Given the description of an element on the screen output the (x, y) to click on. 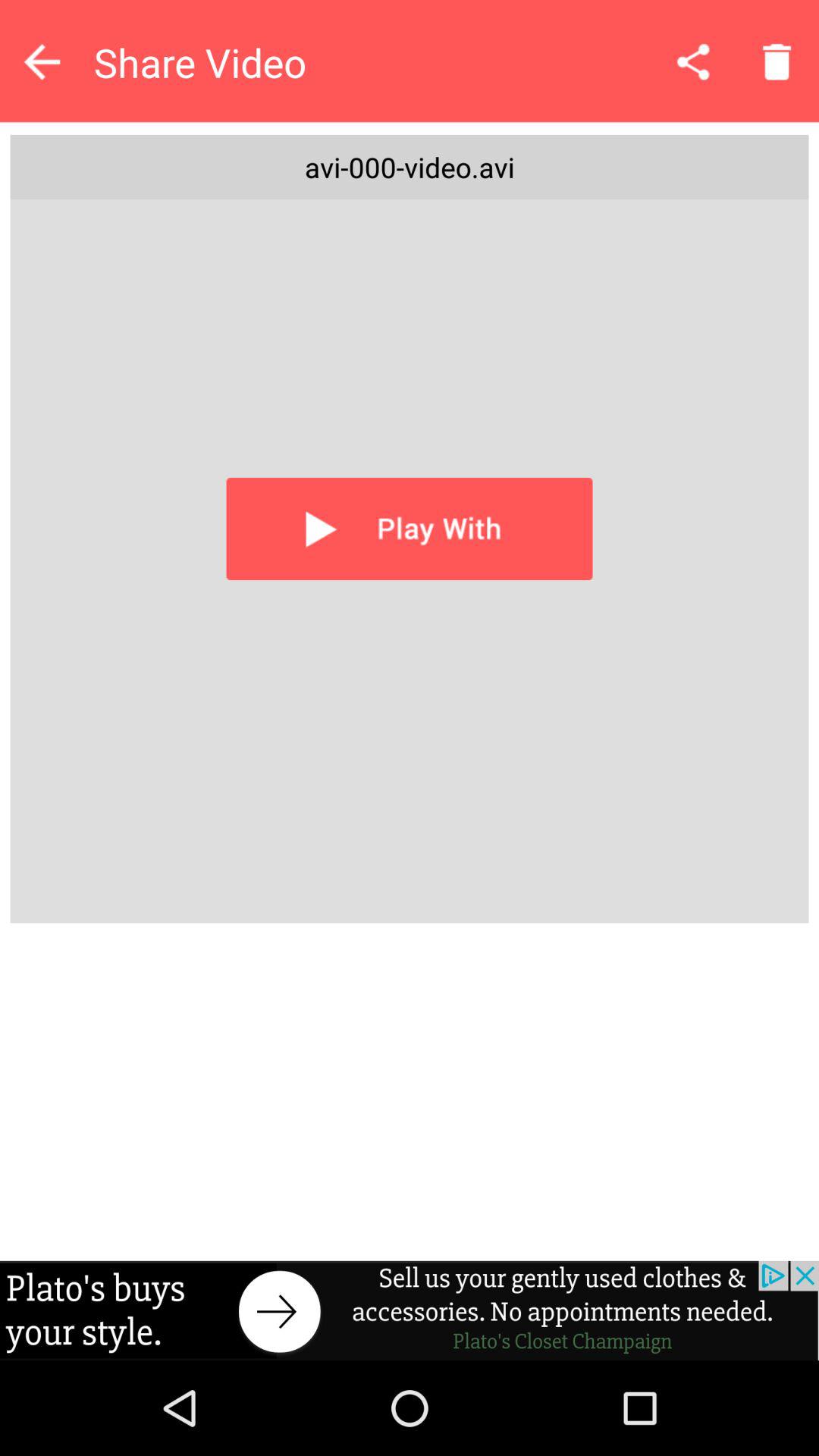
open advertisement (409, 1310)
